Given the description of an element on the screen output the (x, y) to click on. 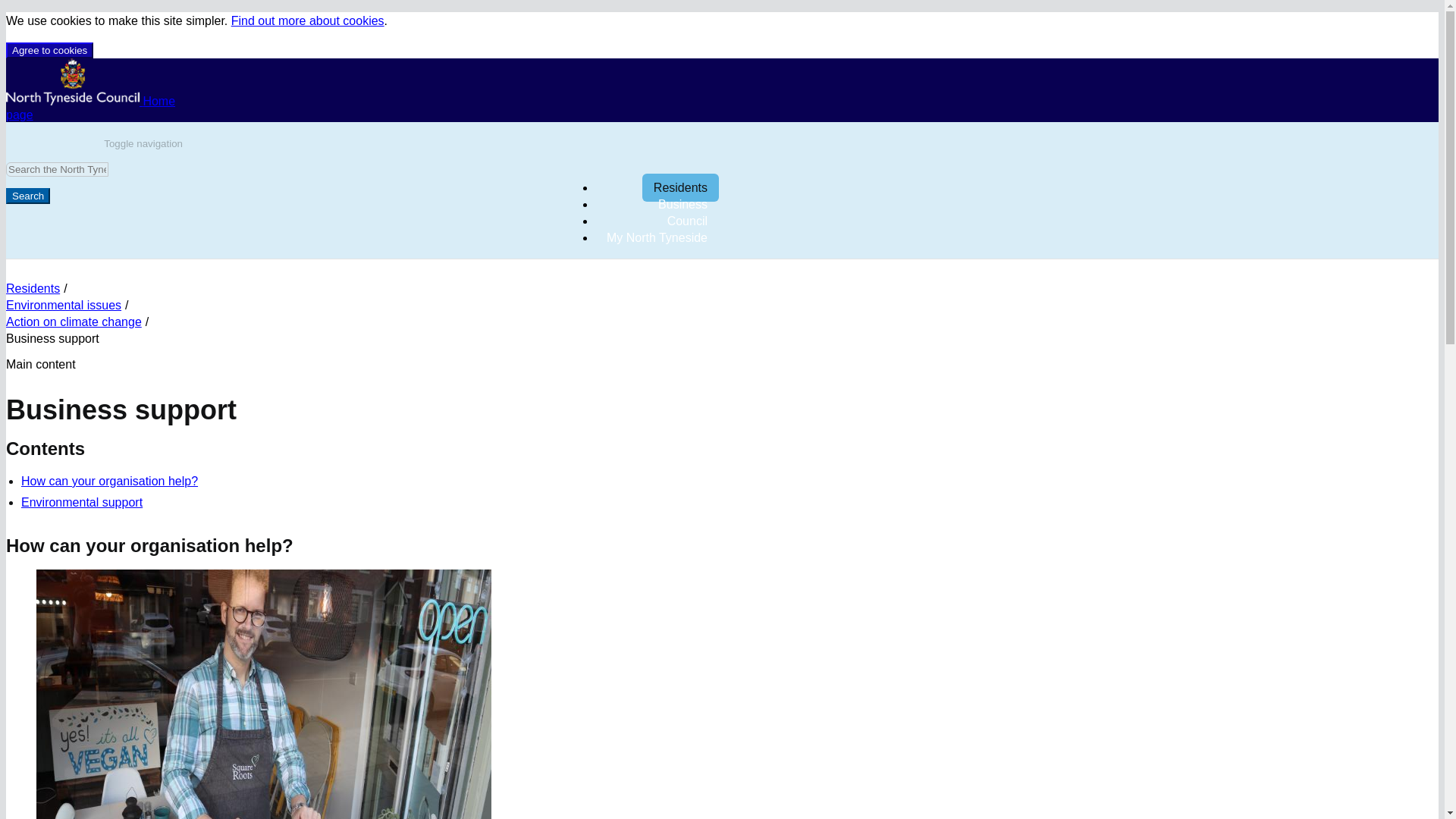
Council (687, 221)
How can your organisation help? (370, 481)
My North Tyneside (657, 237)
Toggle navigation (143, 143)
Environmental support (370, 502)
Search (27, 195)
Residents (680, 187)
Action on climate change (73, 321)
Agree to cookies (49, 50)
Business (682, 204)
Home page (89, 108)
Environmental issues (62, 305)
Residents (32, 287)
